Given the description of an element on the screen output the (x, y) to click on. 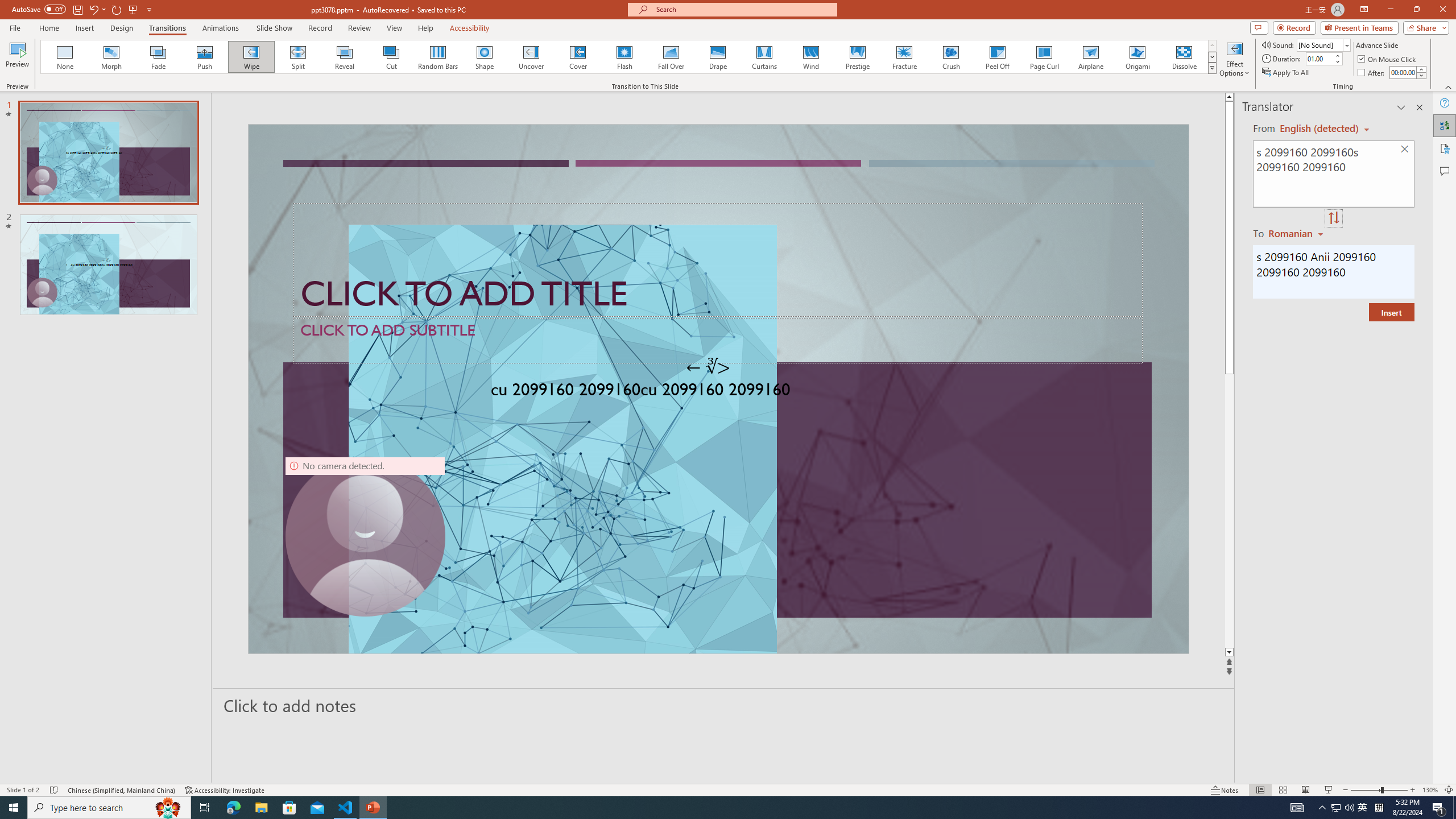
Shape (484, 56)
AutomationID: AnimationTransitionGallery (628, 56)
None (65, 56)
Curtains (764, 56)
